Given the description of an element on the screen output the (x, y) to click on. 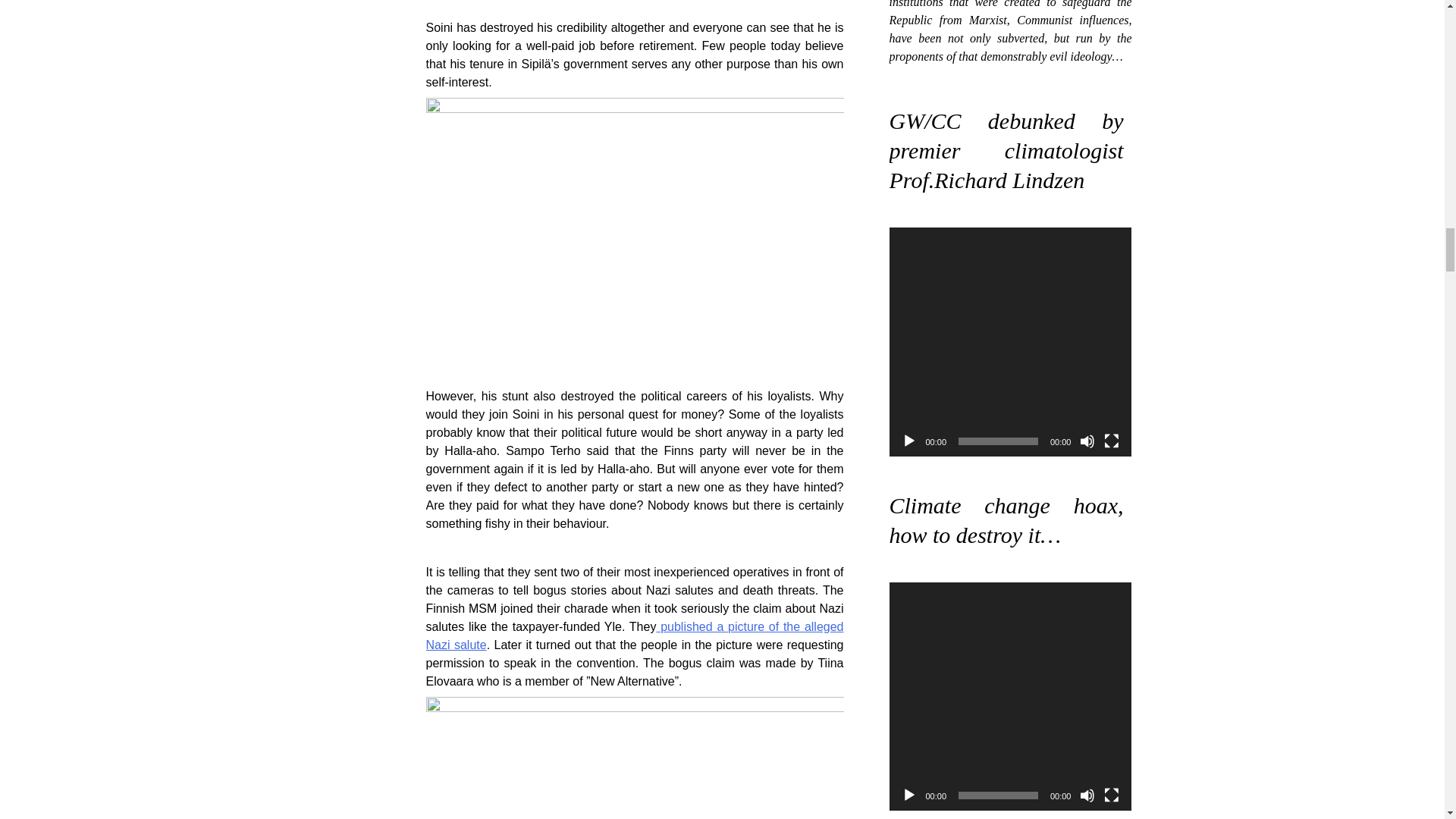
Play (908, 441)
published a picture of the alleged Nazi salute (635, 635)
